Given the description of an element on the screen output the (x, y) to click on. 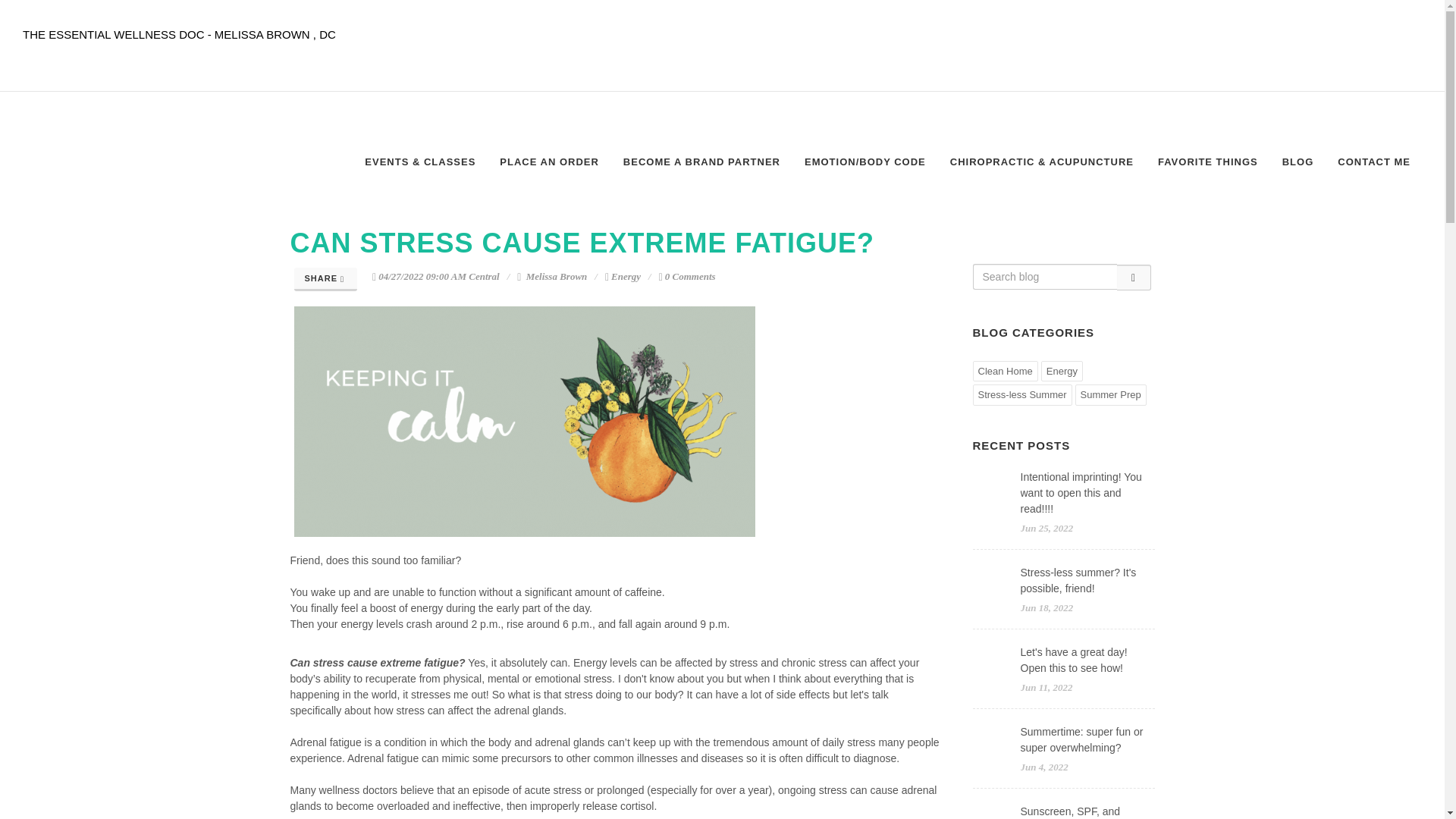
Intentional imprinting! You want to open this and read!!!! (1080, 492)
Stress-less Summer (1021, 394)
CAN STRESS CAUSE EXTREME FATIGUE? (581, 242)
Summer Prep (1111, 394)
0 Comments (687, 276)
Energy (625, 276)
FAVORITE THINGS (1208, 161)
THE ESSENTIAL WELLNESS DOC - MELISSA BROWN , DC (179, 31)
CONTACT ME (1374, 161)
PLACE AN ORDER (548, 161)
Jun 25, 2022 (1047, 527)
BECOME A BRAND PARTNER (701, 161)
Energy (1062, 371)
Clean Home (1004, 371)
SHARE (326, 279)
